Given the description of an element on the screen output the (x, y) to click on. 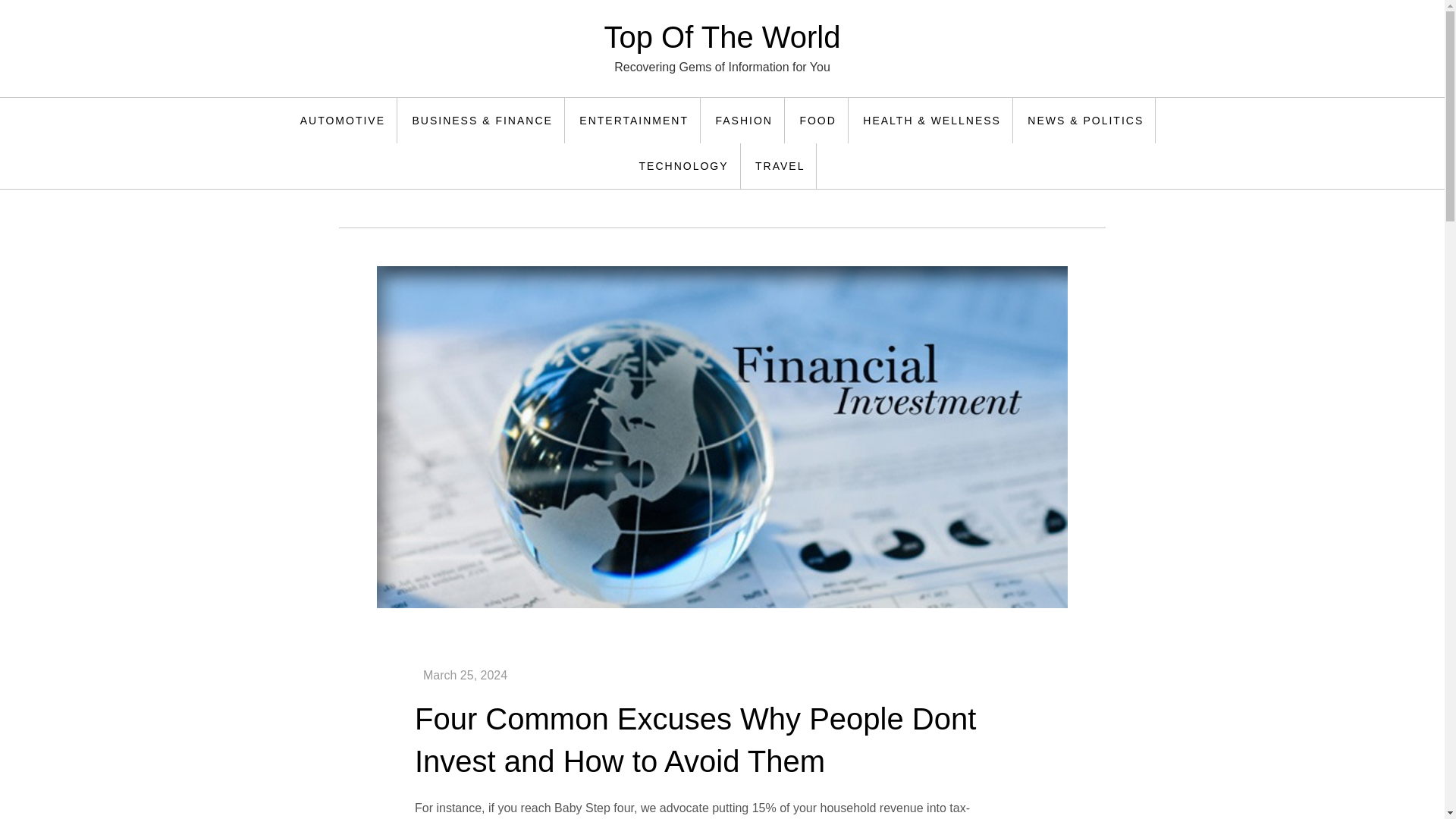
TECHNOLOGY (684, 166)
March 25, 2024 (464, 675)
TRAVEL (780, 166)
FOOD (817, 120)
FASHION (743, 120)
ENTERTAINMENT (633, 120)
AUTOMOTIVE (342, 120)
Top Of The World (722, 37)
